Given the description of an element on the screen output the (x, y) to click on. 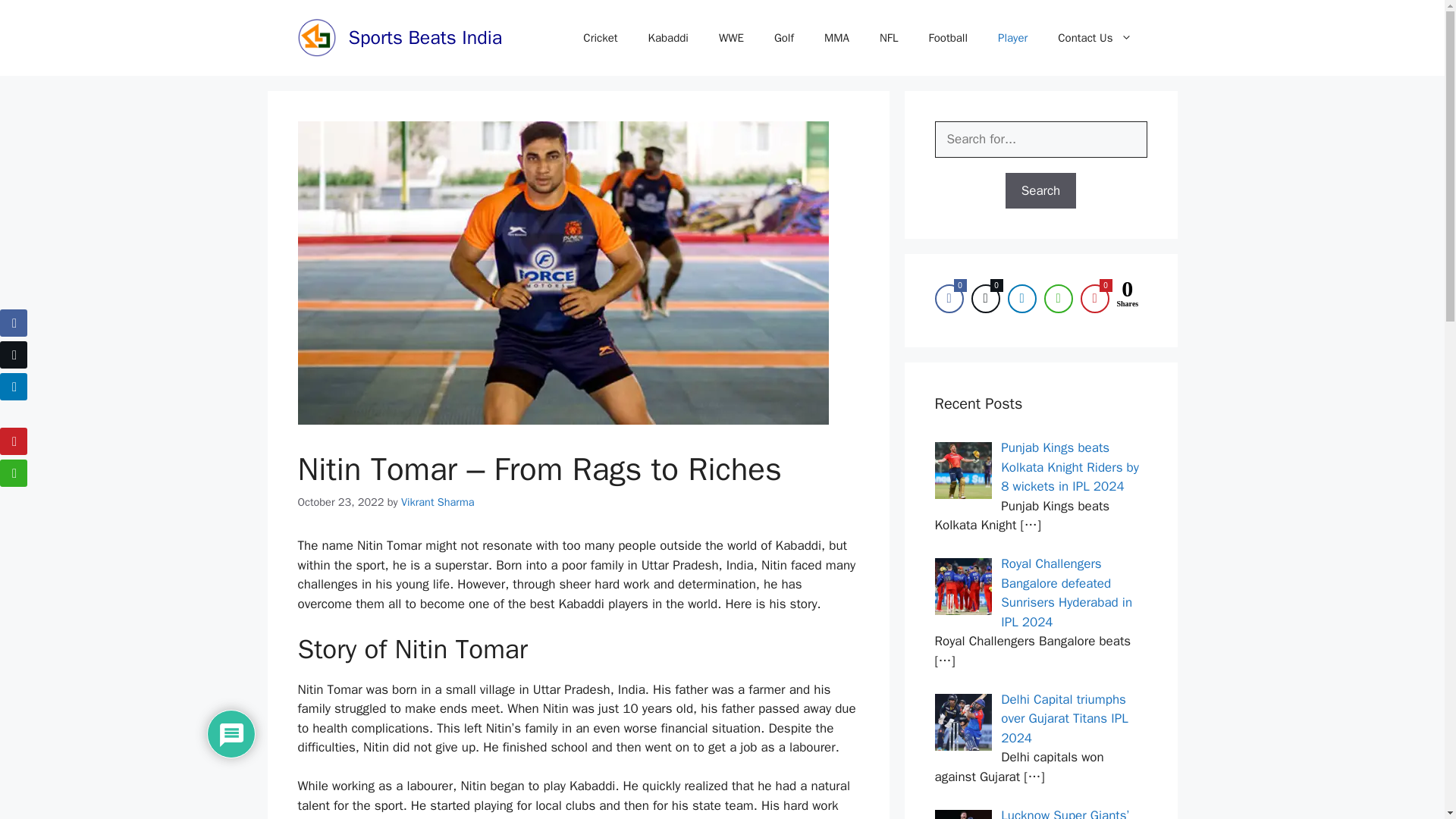
Search (1041, 190)
View all posts by Vikrant Sharma (437, 501)
NFL (889, 37)
Search (1041, 190)
Vikrant Sharma (437, 501)
Cricket (599, 37)
Golf (783, 37)
Sports Beats India (425, 37)
Contact Us (1094, 37)
Football (949, 37)
MMA (836, 37)
Player (1012, 37)
Kabaddi (668, 37)
WWE (730, 37)
